Given the description of an element on the screen output the (x, y) to click on. 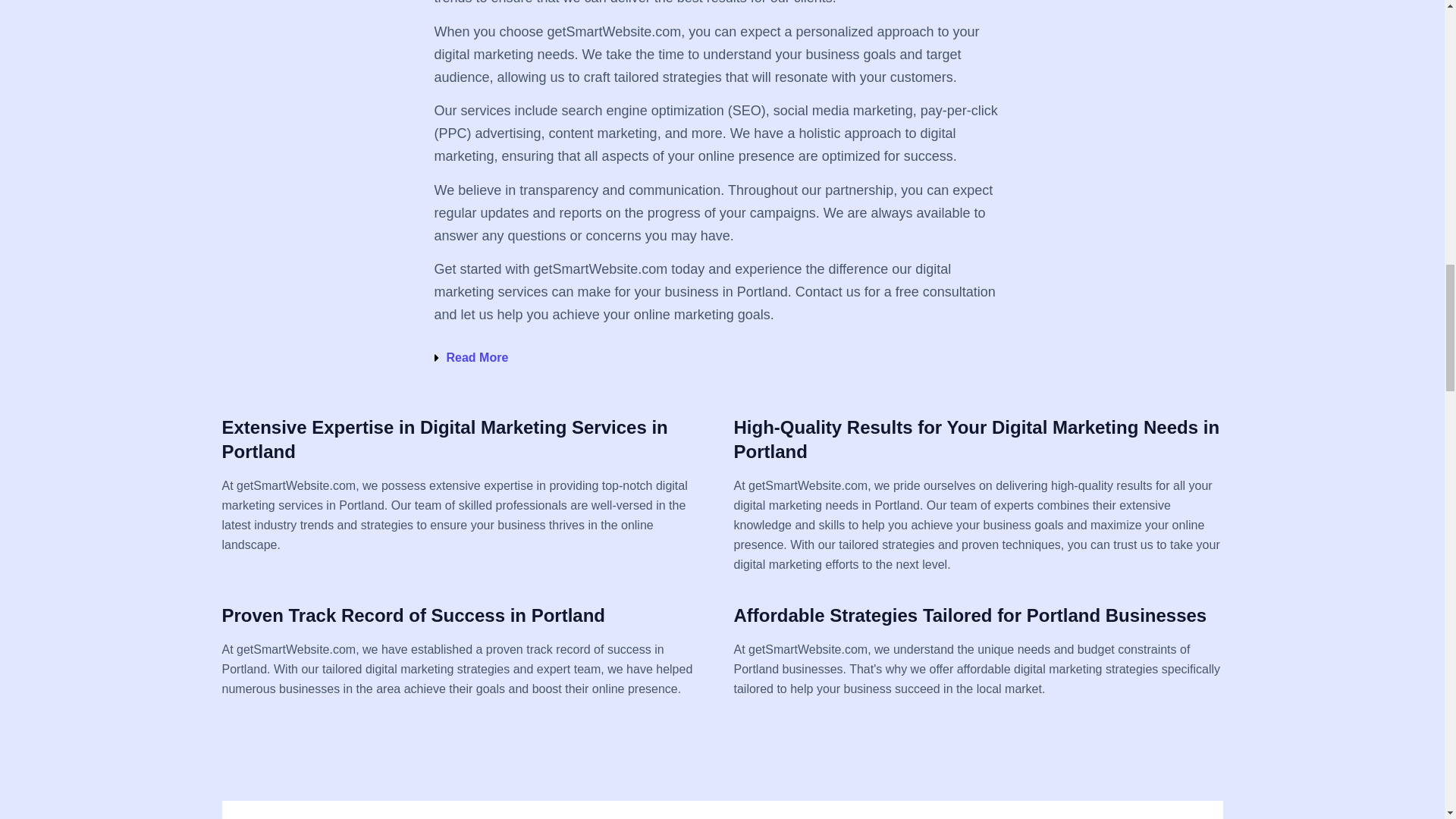
Read More (476, 357)
